Given the description of an element on the screen output the (x, y) to click on. 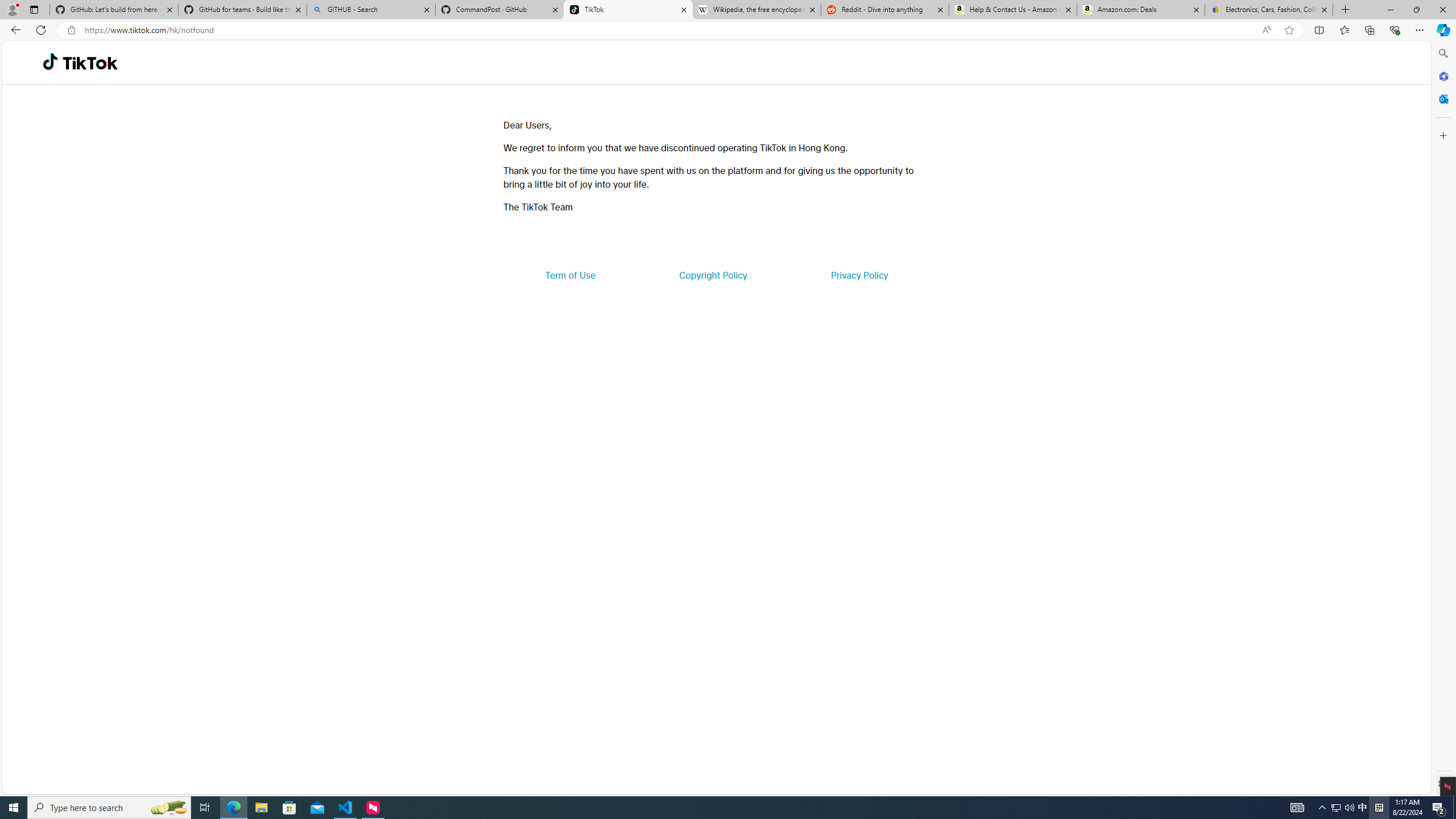
GITHUB - Search (370, 9)
Reddit - Dive into anything (884, 9)
